Given the description of an element on the screen output the (x, y) to click on. 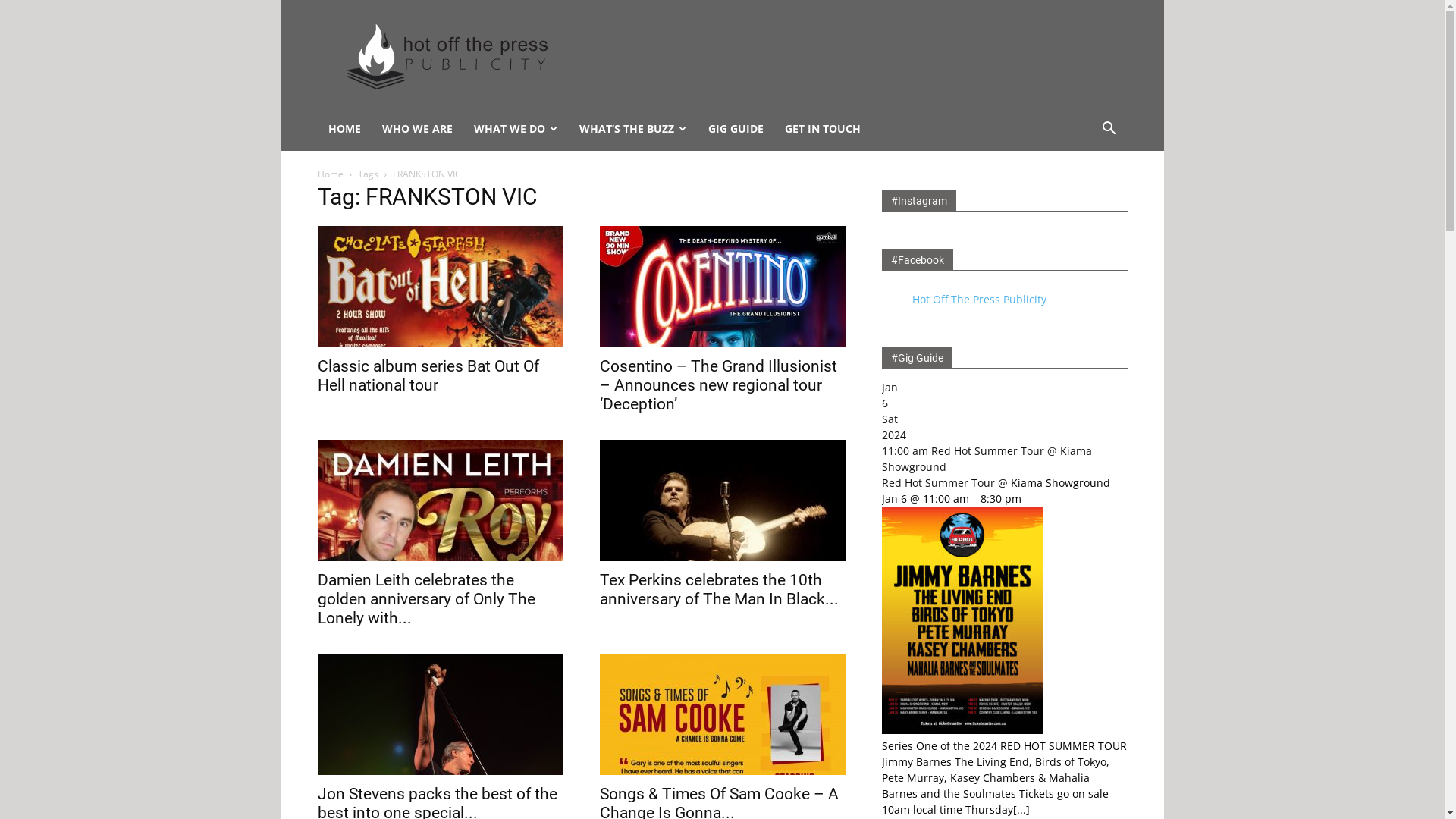
GIG GUIDE Element type: text (735, 128)
Search Element type: text (1085, 189)
GET IN TOUCH Element type: text (821, 128)
WHO WE ARE Element type: text (417, 128)
WHAT WE DO Element type: text (514, 128)
11:00 am Red Hot Summer Tour @ Kiama Showground Element type: text (986, 458)
Jan
6
Sat
2024 Element type: text (1003, 410)
Home Element type: text (329, 173)
Hot Off The Press Publicity Element type: hover (445, 55)
Classic album series Bat Out Of Hell national tour Element type: text (427, 375)
Jon Stevens packs the best of the best into one special tour Element type: hover (439, 714)
Hot Off The Press Publicity Element type: text (978, 298)
HOME Element type: text (343, 128)
Classic album series Bat Out Of Hell national tour Element type: hover (439, 286)
Red Hot Summer Tour Element type: text (937, 482)
